Given the description of an element on the screen output the (x, y) to click on. 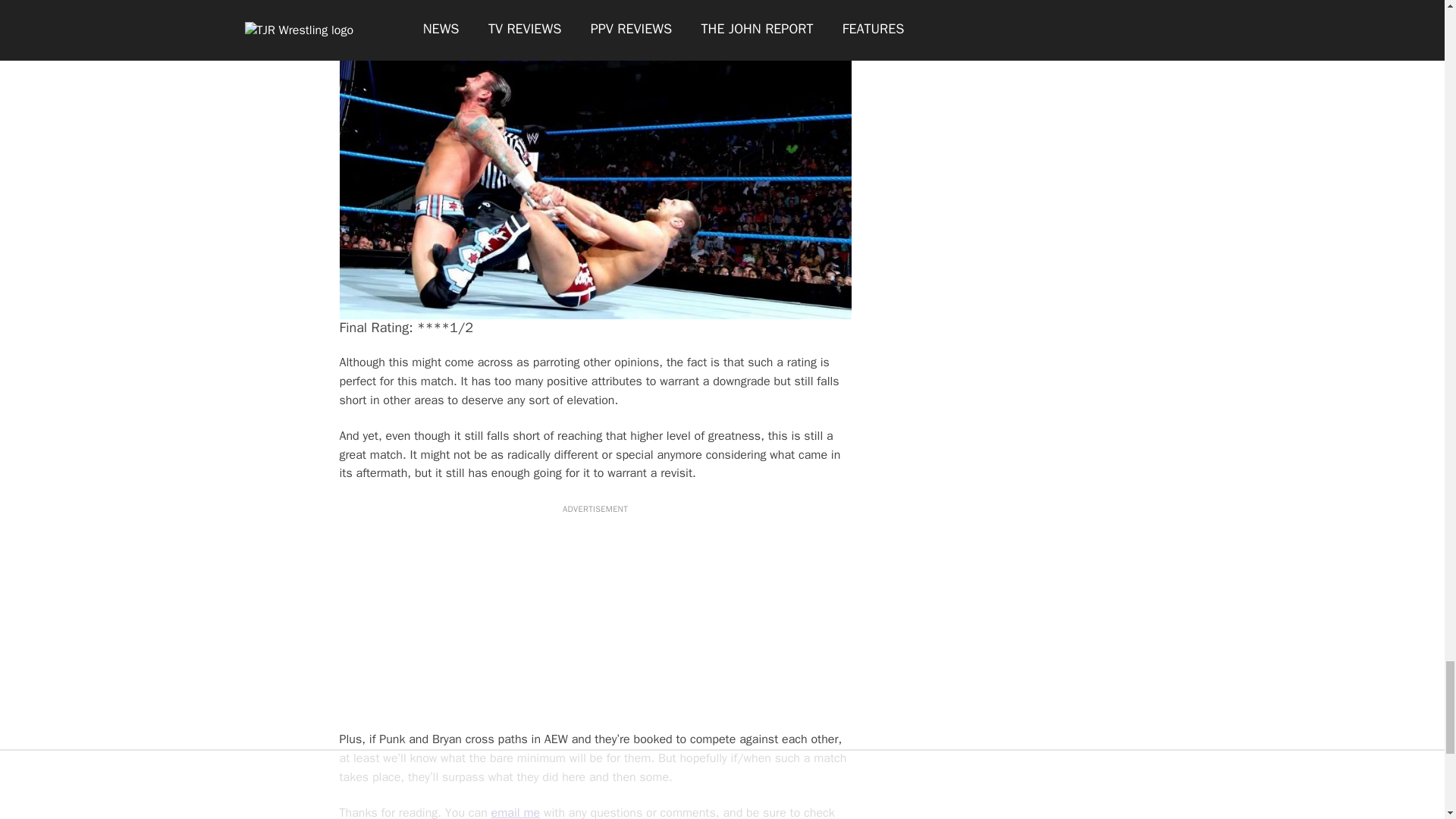
email me (516, 812)
